Given the description of an element on the screen output the (x, y) to click on. 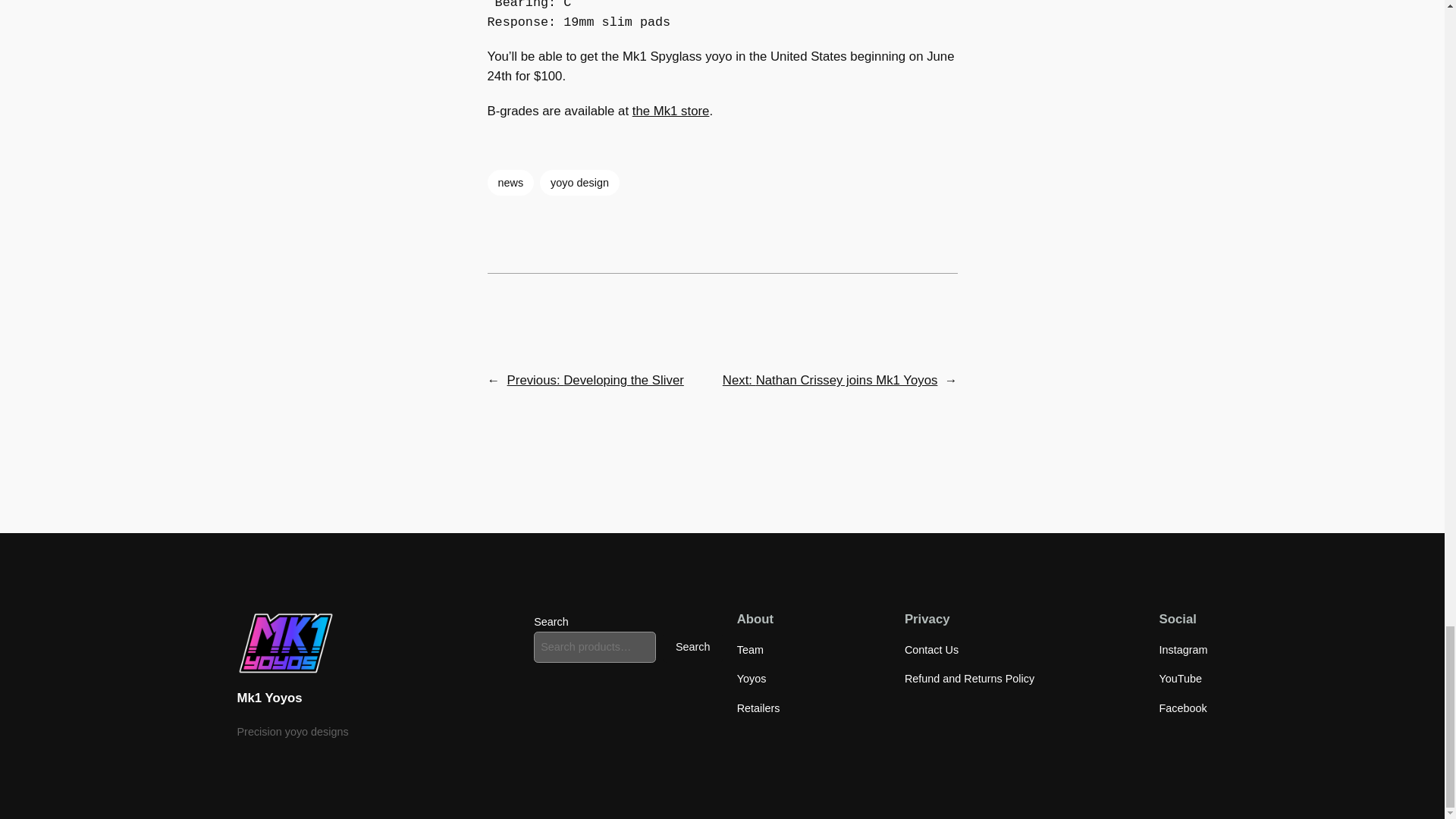
Previous: Developing the Sliver (595, 380)
Yoyos (751, 678)
Team (749, 649)
Instagram (1182, 649)
Search (692, 647)
Next: Nathan Crissey joins Mk1 Yoyos (829, 380)
Refund and Returns Policy (968, 678)
the Mk1 store (670, 110)
Contact Us (931, 649)
Mk1 Yoyos (268, 698)
